Given the description of an element on the screen output the (x, y) to click on. 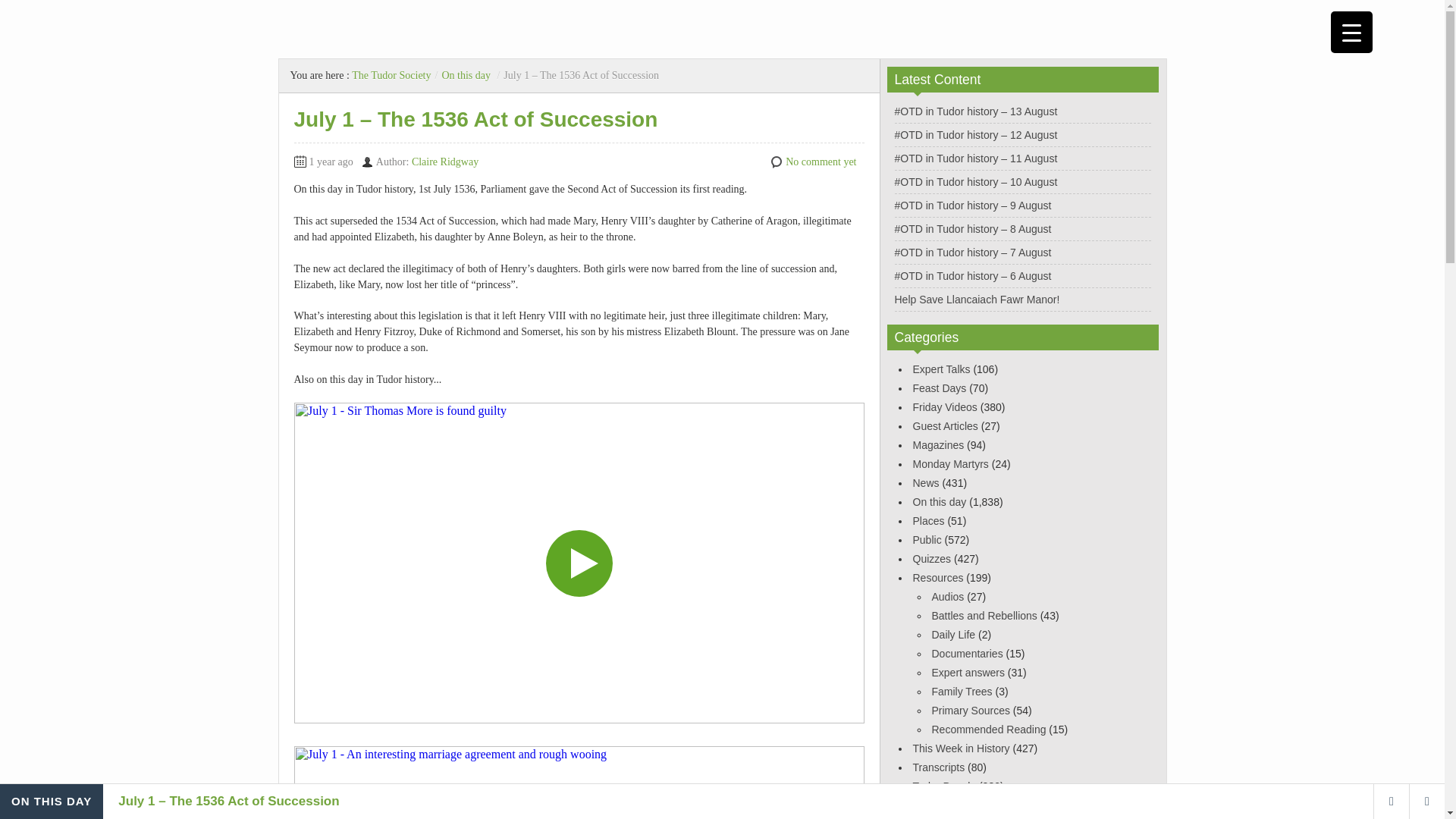
Feast Days (939, 387)
Guest Articles (945, 426)
Friday Videos (944, 407)
Magazines (937, 444)
Monday Martyrs (950, 463)
On this day (465, 75)
Places (928, 521)
July 1 - An interesting marriage agreement and rough wooing (579, 782)
On this day (939, 501)
